Given the description of an element on the screen output the (x, y) to click on. 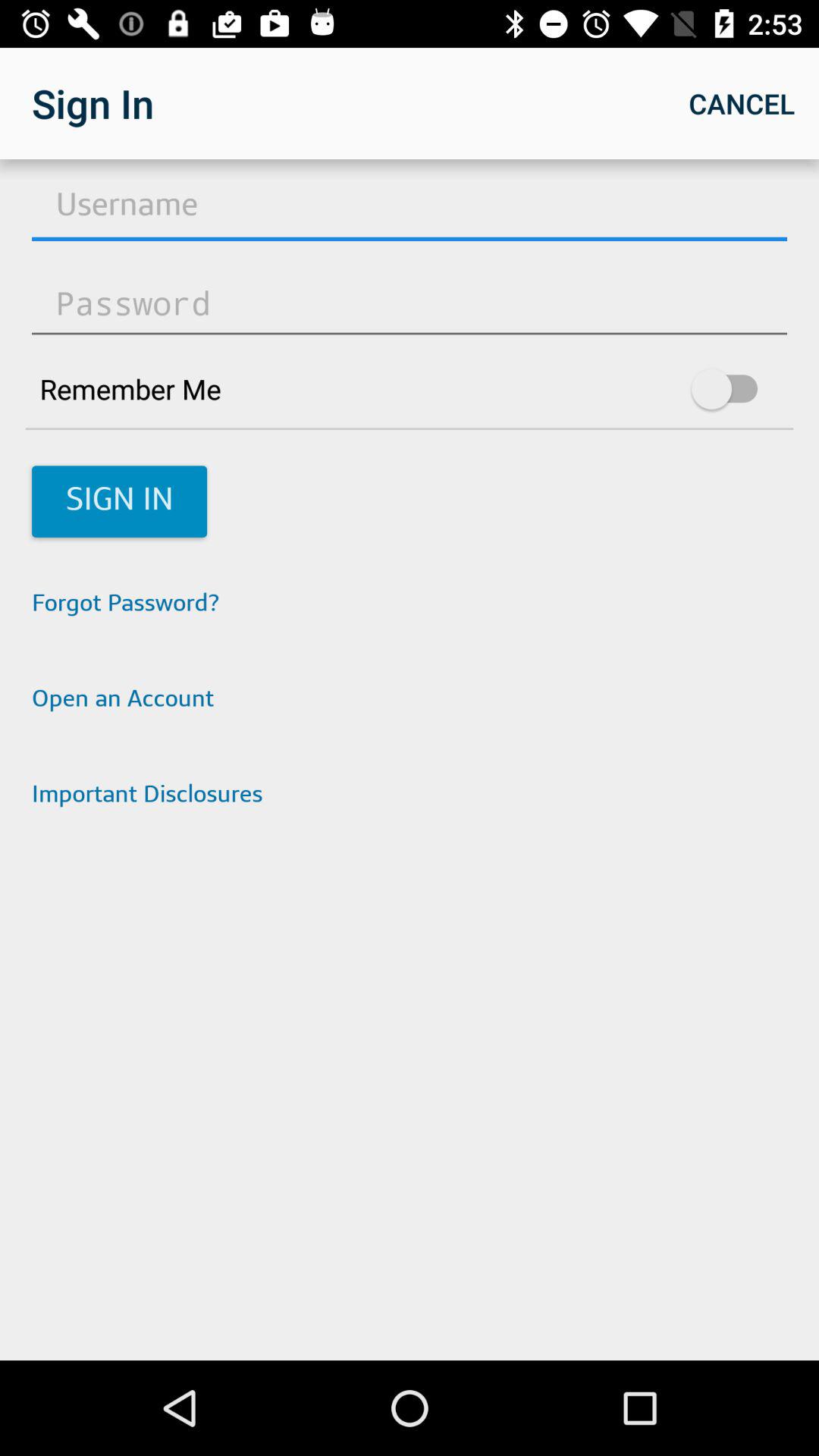
turn off important disclosures icon (409, 796)
